Given the description of an element on the screen output the (x, y) to click on. 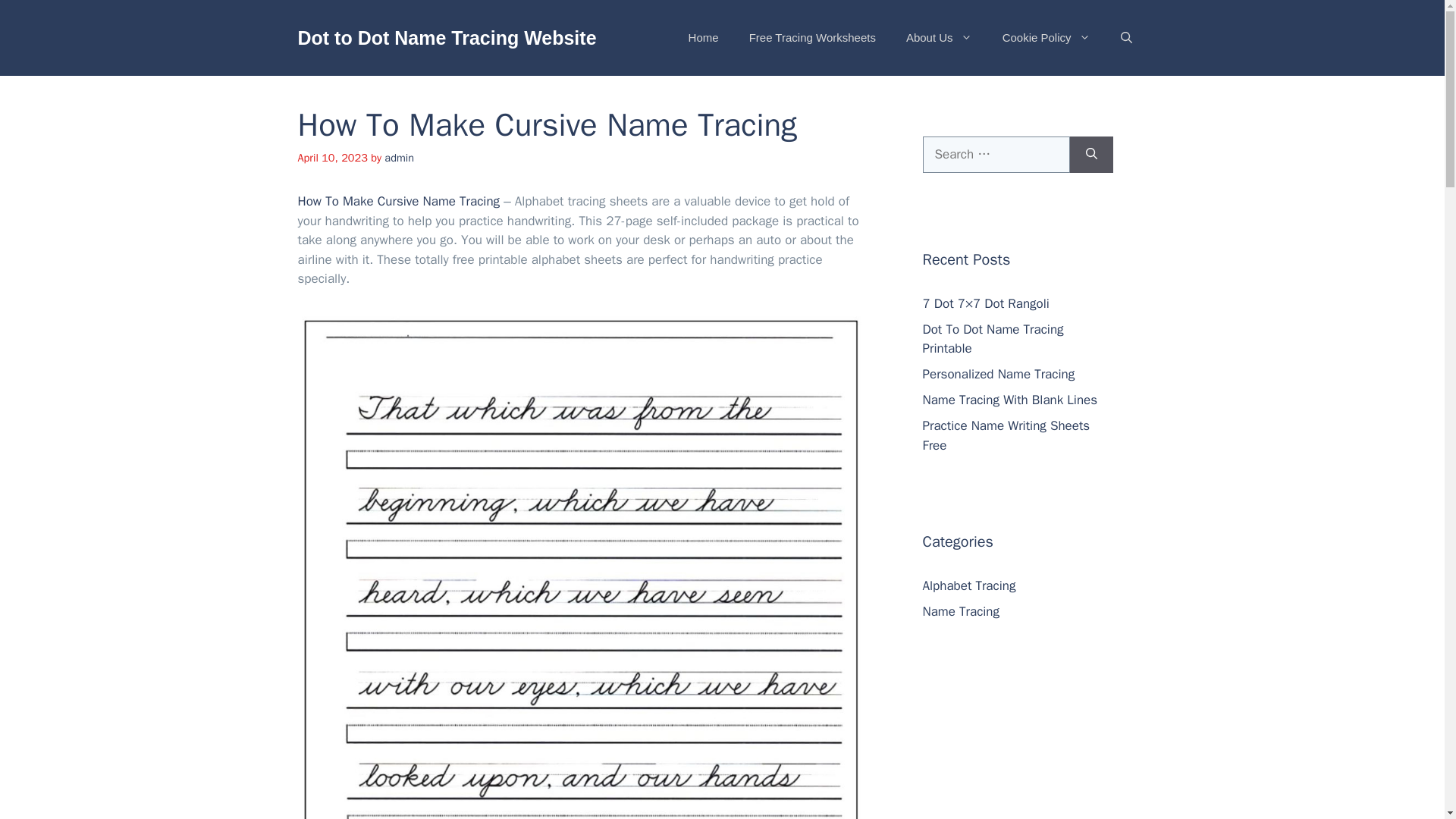
Dot To Dot Name Tracing Printable (991, 339)
Dot to Dot Name Tracing Website (446, 37)
admin (398, 157)
How To Make Cursive Name Tracing (398, 201)
Personalized Name Tracing (997, 374)
View all posts by admin (398, 157)
Name Tracing (959, 611)
About Us (939, 37)
Free Tracing Worksheets (812, 37)
Name Tracing With Blank Lines (1009, 399)
Alphabet Tracing (967, 585)
Practice Name Writing Sheets Free (1005, 435)
Home (702, 37)
Cookie Policy (1046, 37)
Search for: (994, 154)
